Given the description of an element on the screen output the (x, y) to click on. 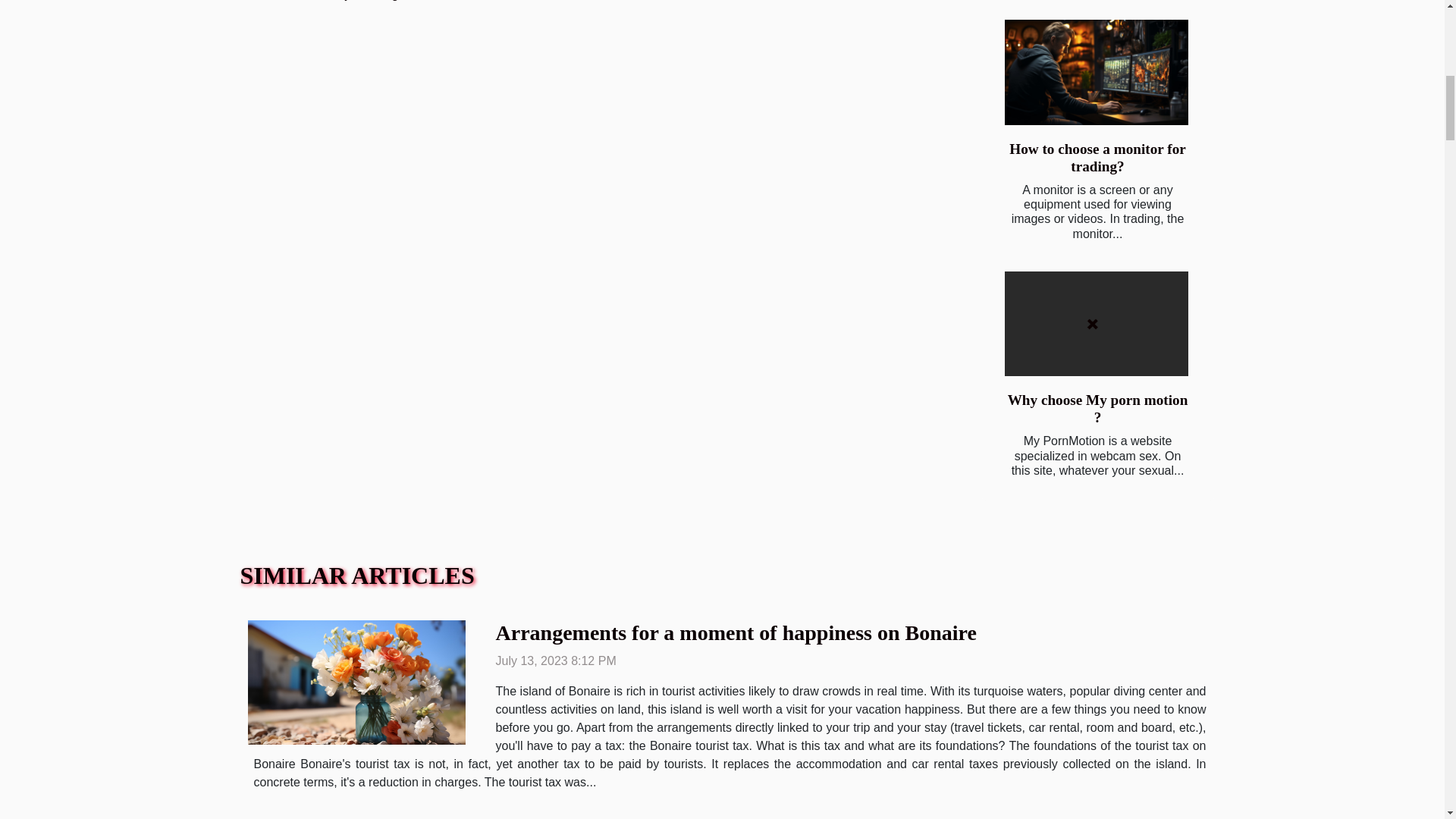
Why choose My porn motion ? (1097, 408)
Arrangements for a moment of happiness on Bonaire (736, 632)
Why choose My porn motion ? (1097, 408)
Why choose My porn motion ? (1096, 323)
How to choose a monitor for trading? (1097, 157)
How to choose a monitor for trading? (1097, 157)
How to choose a monitor for trading? (1096, 72)
Arrangements for a moment of happiness on Bonaire (736, 632)
